Given the description of an element on the screen output the (x, y) to click on. 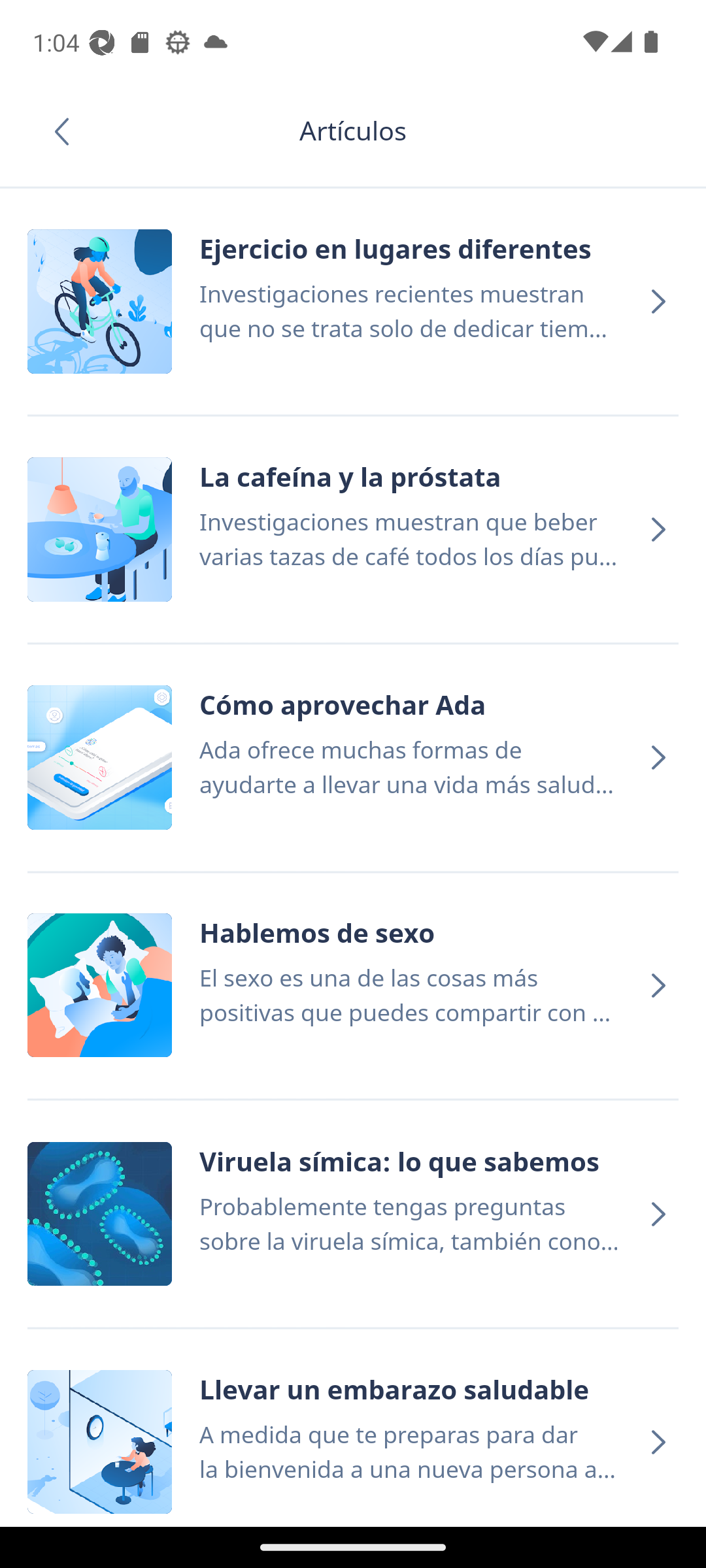
Go back, Navigates to the previous screen (68, 131)
